Given the description of an element on the screen output the (x, y) to click on. 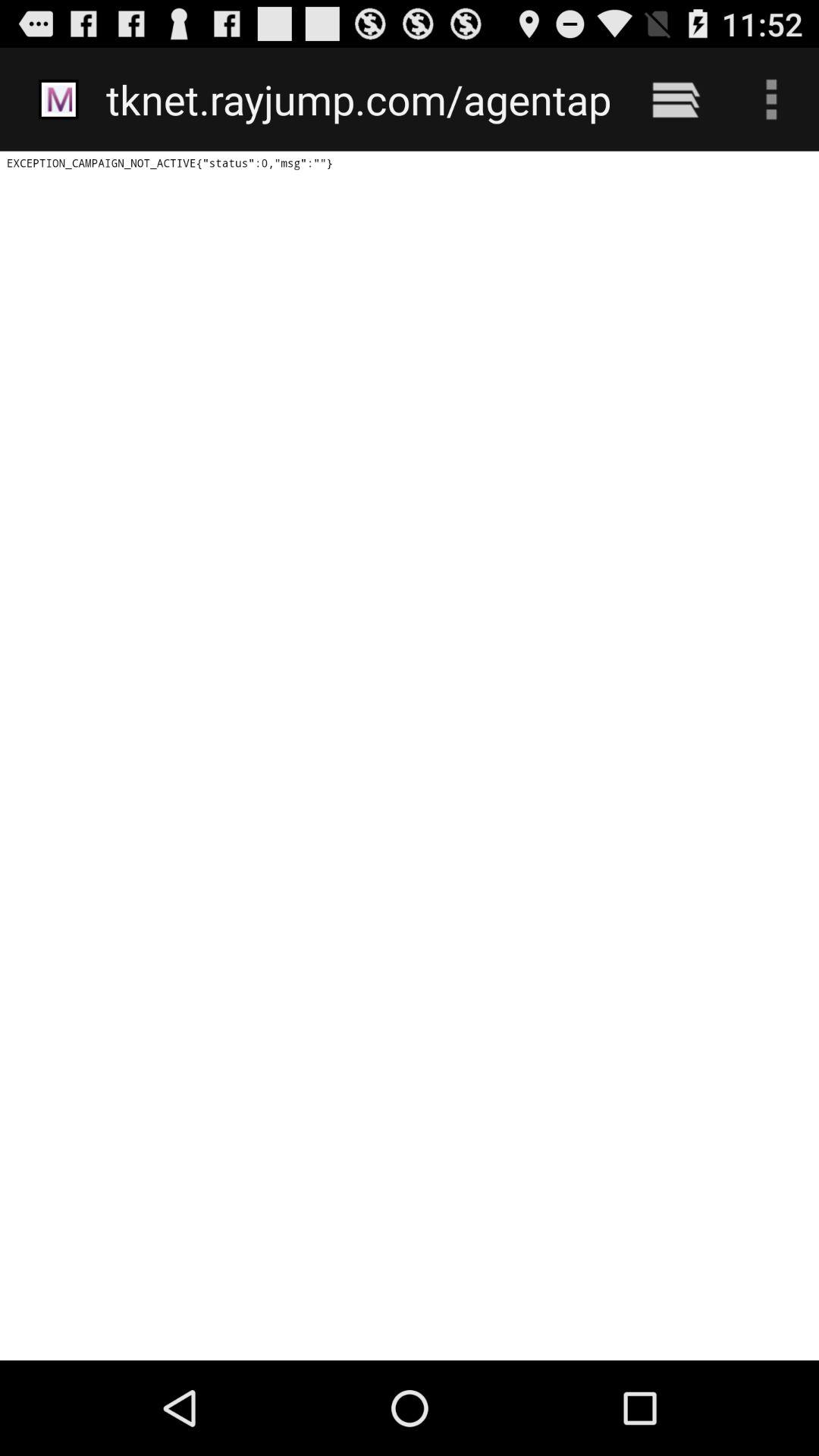
choose the tknet rayjump com (357, 99)
